Given the description of an element on the screen output the (x, y) to click on. 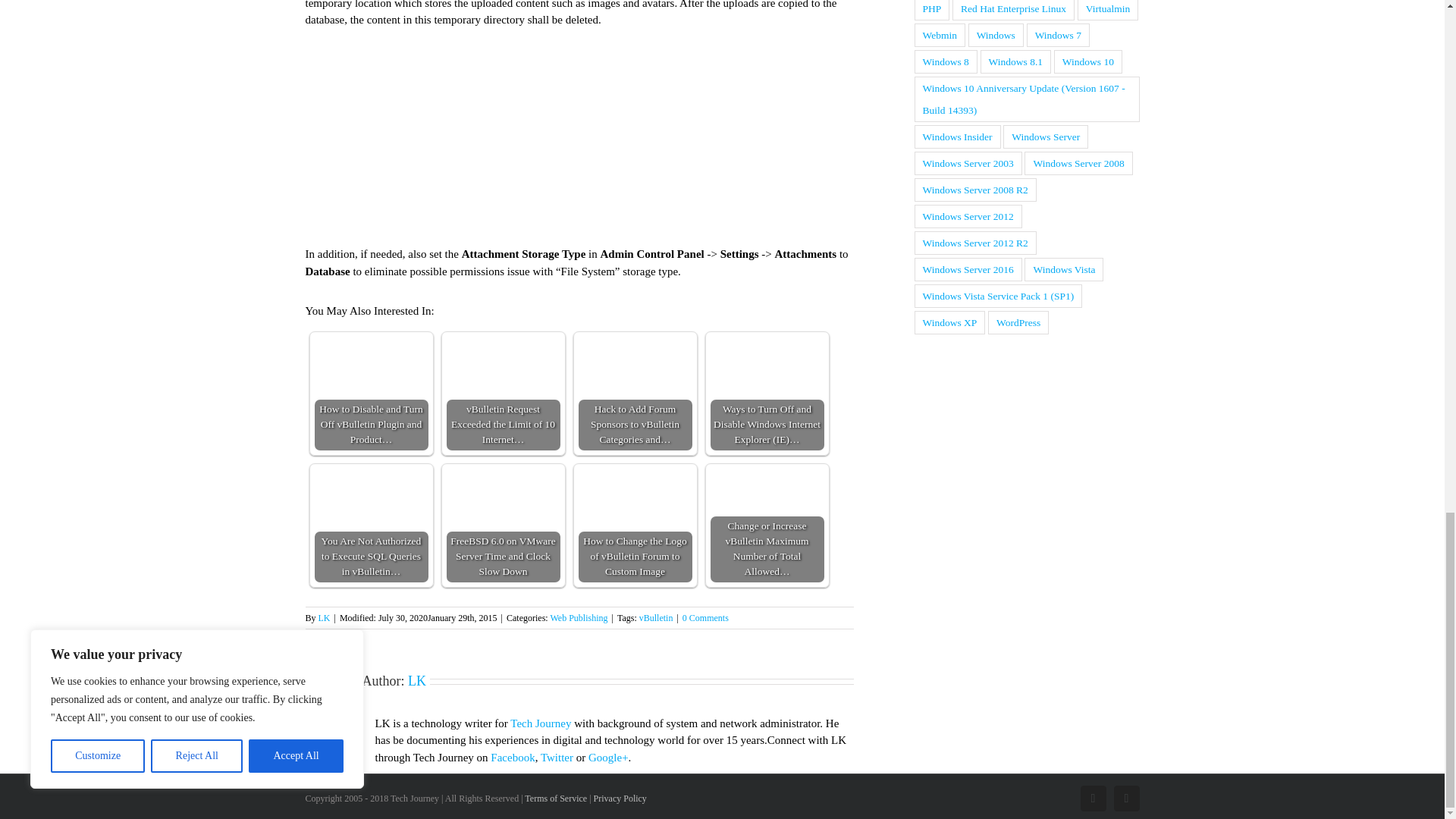
How to Change the Logo of vBulletin Forum to Custom Image (634, 482)
FreeBSD 6.0 on VMware Server Time and Clock Slow Down (502, 525)
Posts by LK (324, 617)
